Given the description of an element on the screen output the (x, y) to click on. 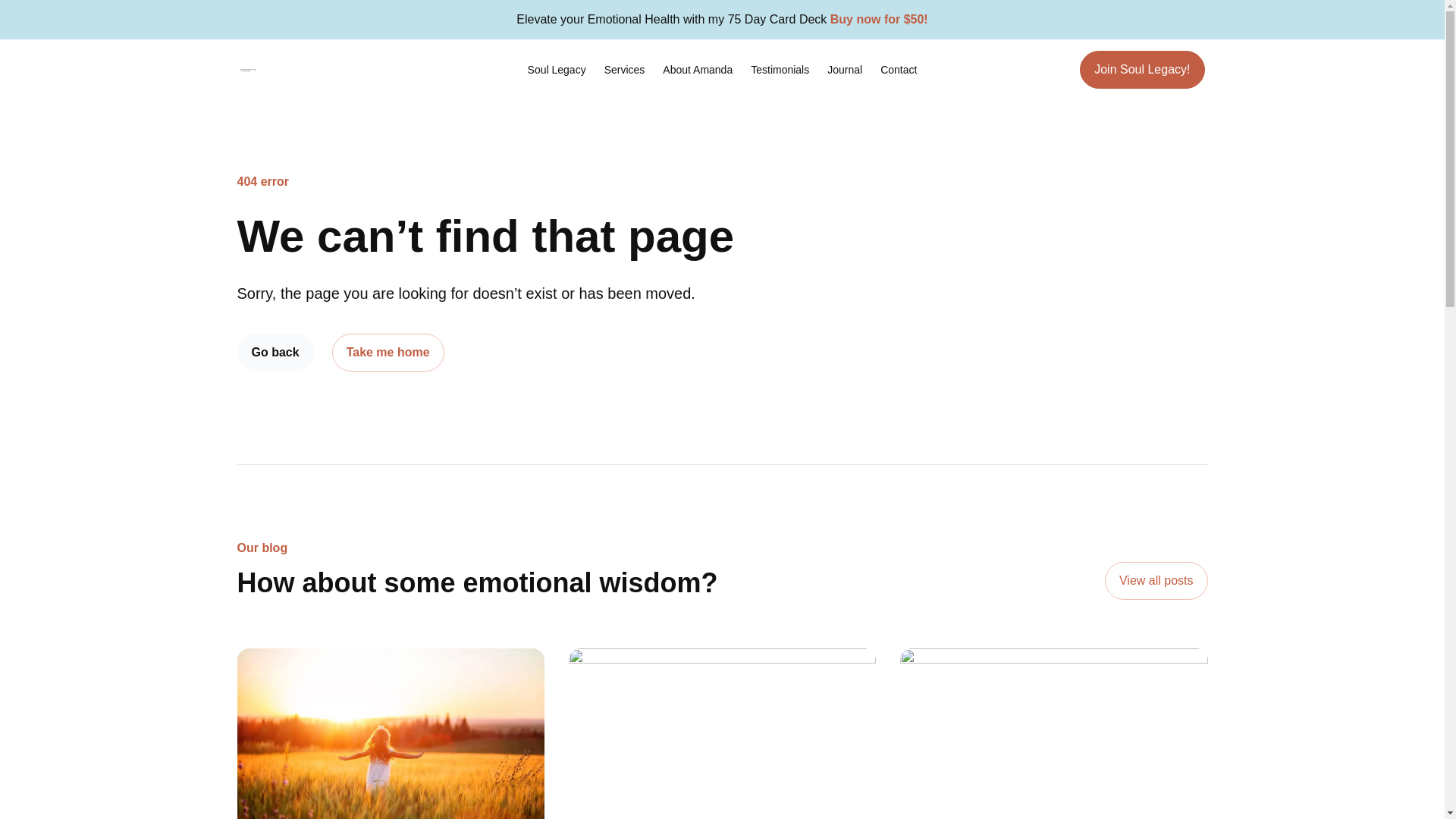
About Amanda (697, 69)
Join Soul Legacy! (1142, 69)
Testimonials (779, 69)
Soul Legacy (556, 69)
Journal (844, 69)
Contact (898, 69)
Take me home (387, 352)
Go back (274, 352)
Services (624, 69)
View all posts (1156, 580)
